Given the description of an element on the screen output the (x, y) to click on. 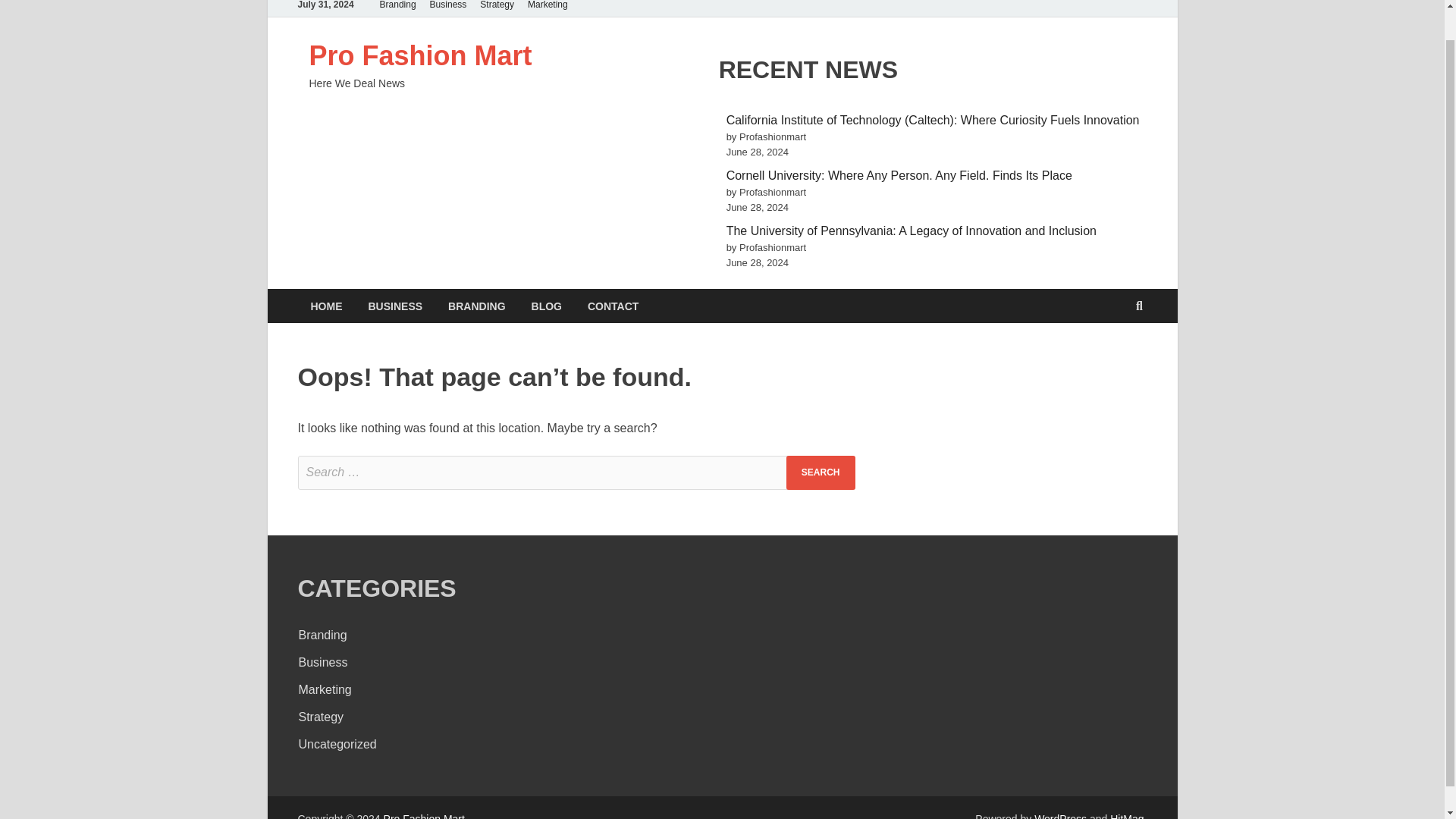
Search (821, 472)
Pro Fashion Mart (420, 55)
Strategy (497, 8)
BUSINESS (395, 305)
HOME (326, 305)
Branding (322, 634)
Search (821, 472)
Business (322, 662)
Search (821, 472)
BLOG (546, 305)
Uncategorized (337, 744)
CONTACT (612, 305)
Strategy (320, 716)
Branding (397, 8)
